Given the description of an element on the screen output the (x, y) to click on. 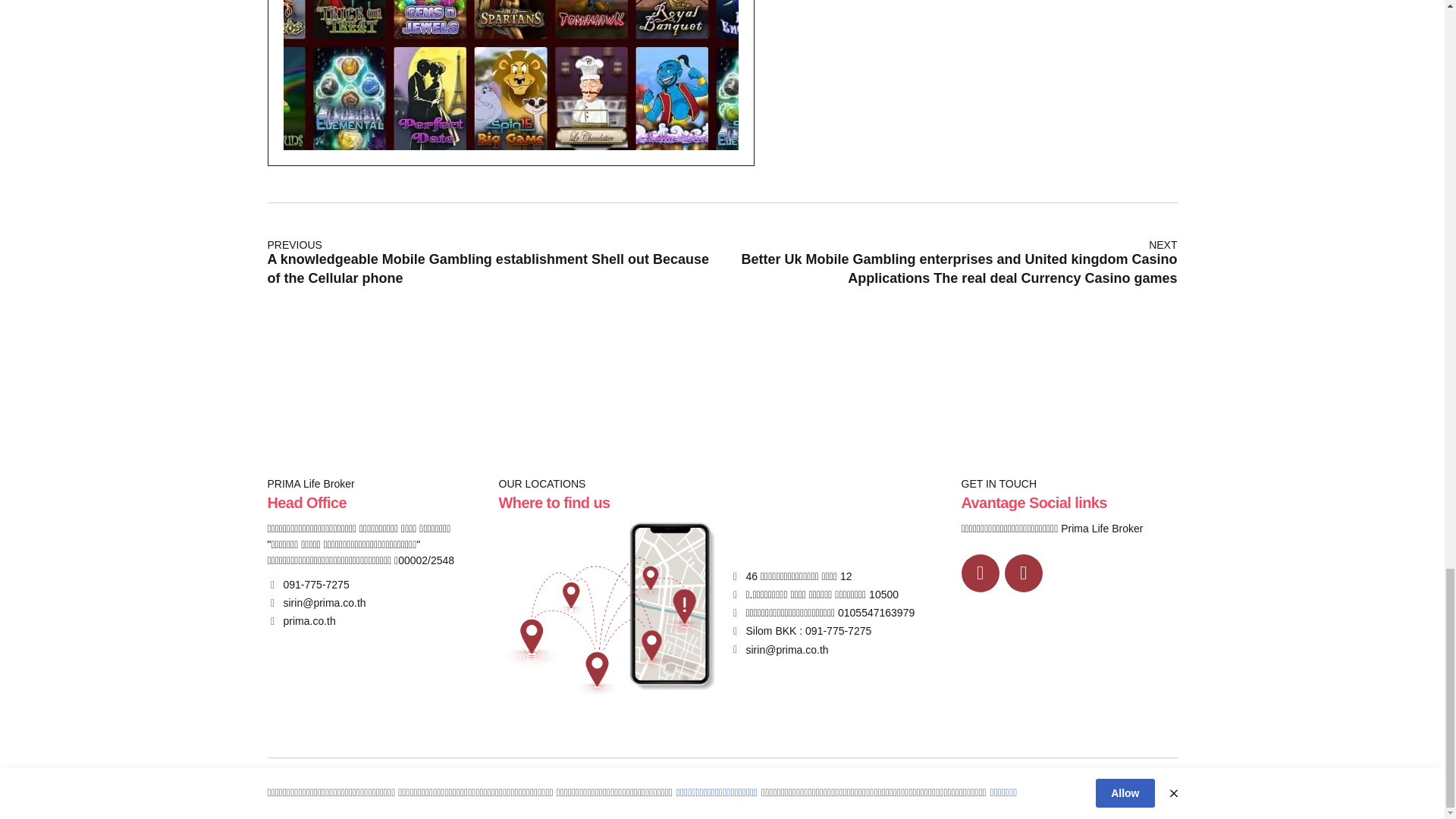
091-775-7275 (307, 584)
prima.co.th (300, 621)
HOME (861, 788)
091-775-7275 (307, 584)
SERVICE (1002, 788)
Silom BKK : 091-775-7275 (799, 631)
Silom BKK : 091-775-7275 (799, 631)
CONTACT (1151, 788)
ABOUT US (929, 788)
prima.co.th (300, 621)
Mao (606, 608)
CONTENT (1076, 788)
